Given the description of an element on the screen output the (x, y) to click on. 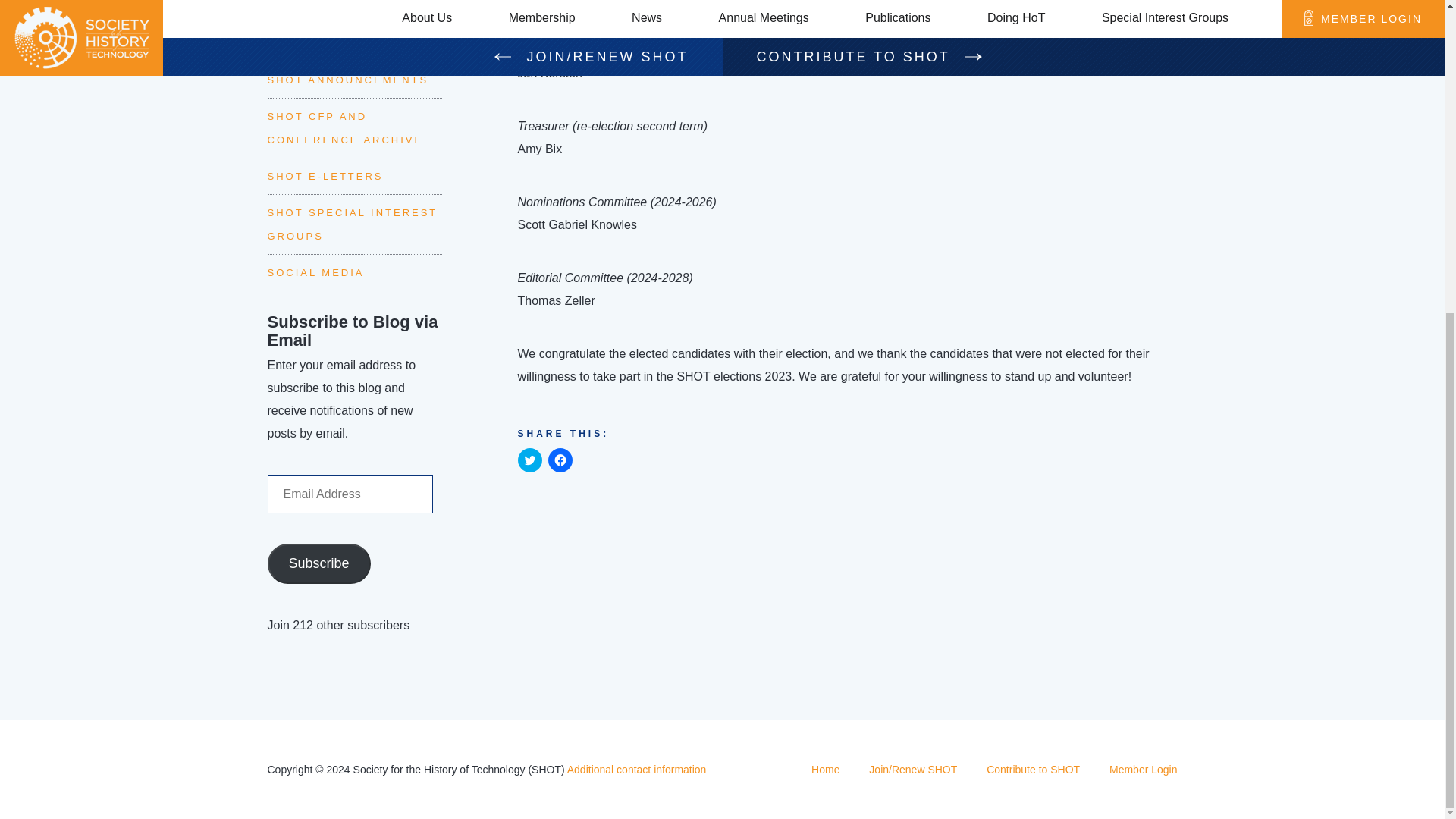
Click to share on Facebook (559, 459)
Click to share on Twitter (528, 459)
